Given the description of an element on the screen output the (x, y) to click on. 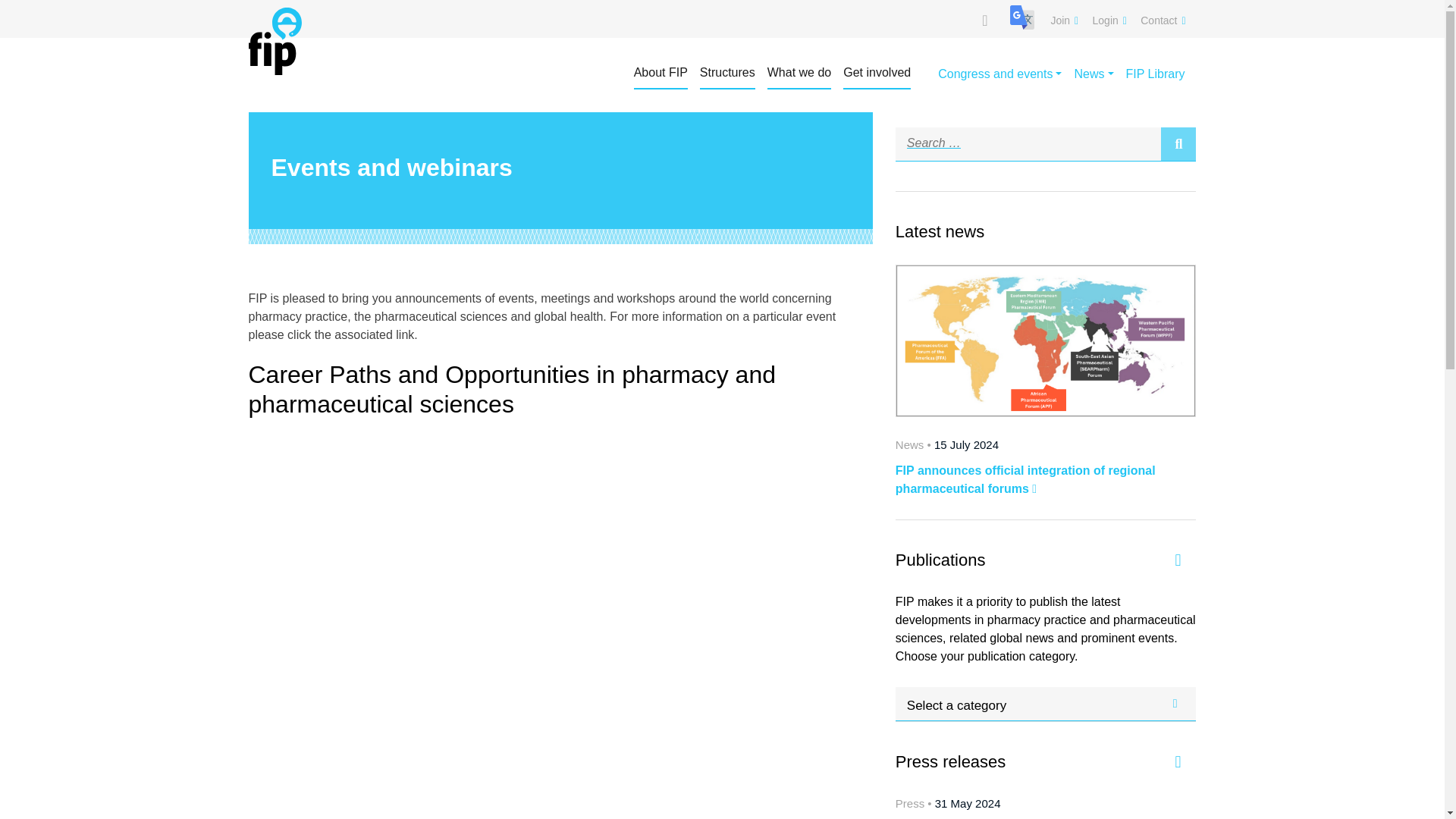
Search for: (1028, 142)
